Given the description of an element on the screen output the (x, y) to click on. 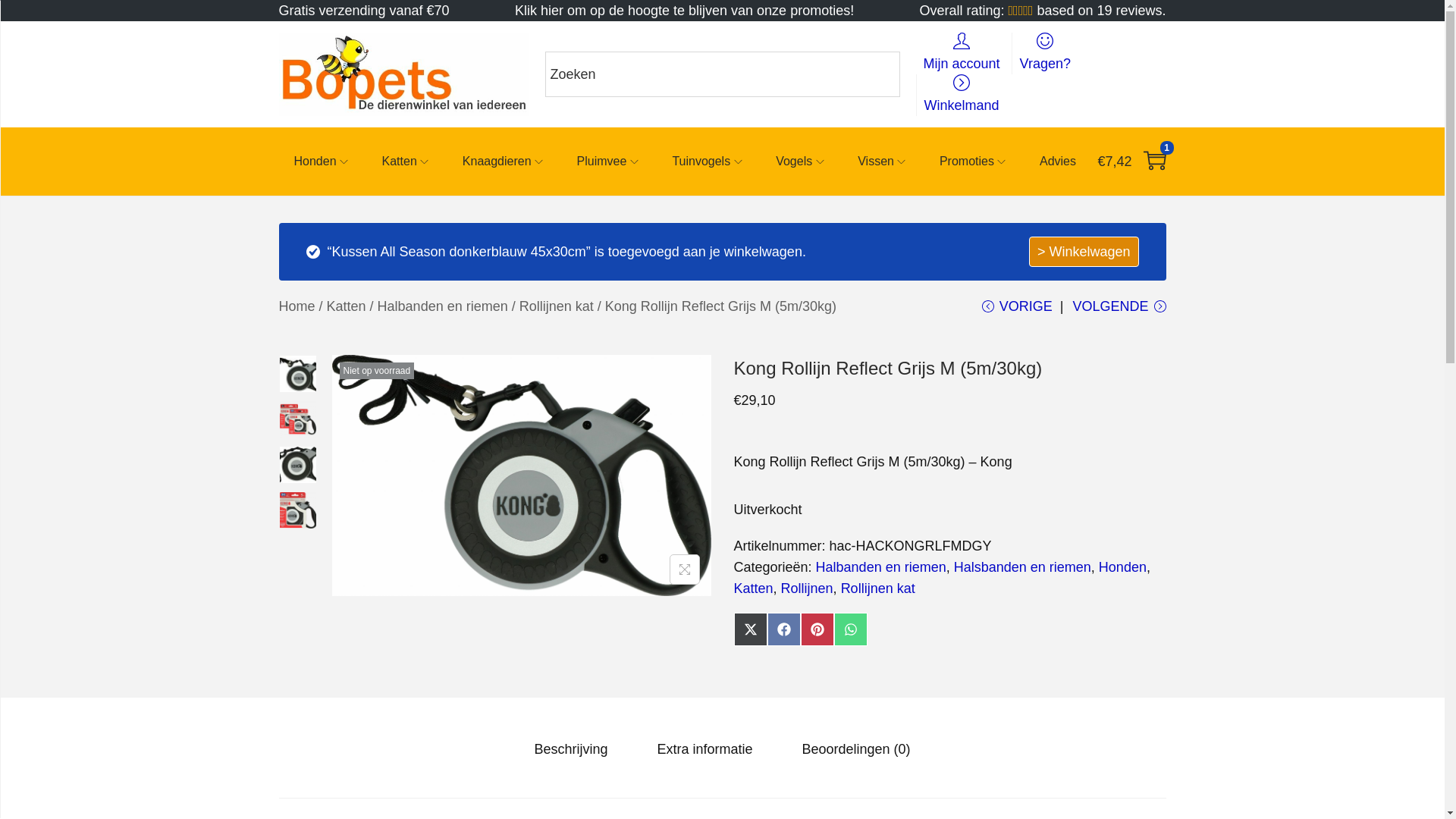
Vissen Element type: text (883, 161)
Home Element type: text (297, 305)
Halsbanden en riemen Element type: text (1022, 566)
Honden Element type: text (1122, 566)
Honden Element type: text (322, 161)
Katten Element type: text (346, 305)
Klik hier om op de hoogte te blijven van onze promoties! Element type: text (683, 10)
Vogels Element type: text (801, 161)
Pluimvee Element type: text (609, 161)
Vragen? Element type: text (1044, 53)
Rollijnen Element type: text (807, 588)
Advies Element type: text (1057, 161)
> Winkelwagen Element type: text (1084, 251)
Beschrijving Element type: text (570, 748)
Knaagdieren Element type: text (504, 161)
VORIGE Element type: text (1017, 311)
VOLGENDE Element type: text (1118, 311)
Halbanden en riemen Element type: text (442, 305)
1 Element type: text (1154, 161)
Promoties Element type: text (974, 161)
Mijn account Element type: text (961, 53)
Rollijnen kat Element type: text (877, 588)
Beoordelingen (0) Element type: text (856, 748)
Katten Element type: text (407, 161)
Tuinvogels Element type: text (708, 161)
Winkelmand Element type: text (961, 95)
Extra informatie Element type: text (704, 748)
Kong Rollijn Reflect Grijs M (5m/30kg) Element type: text (888, 367)
Rollijnen kat Element type: text (556, 305)
Katten Element type: text (753, 588)
Halbanden en riemen Element type: text (880, 566)
